Given the description of an element on the screen output the (x, y) to click on. 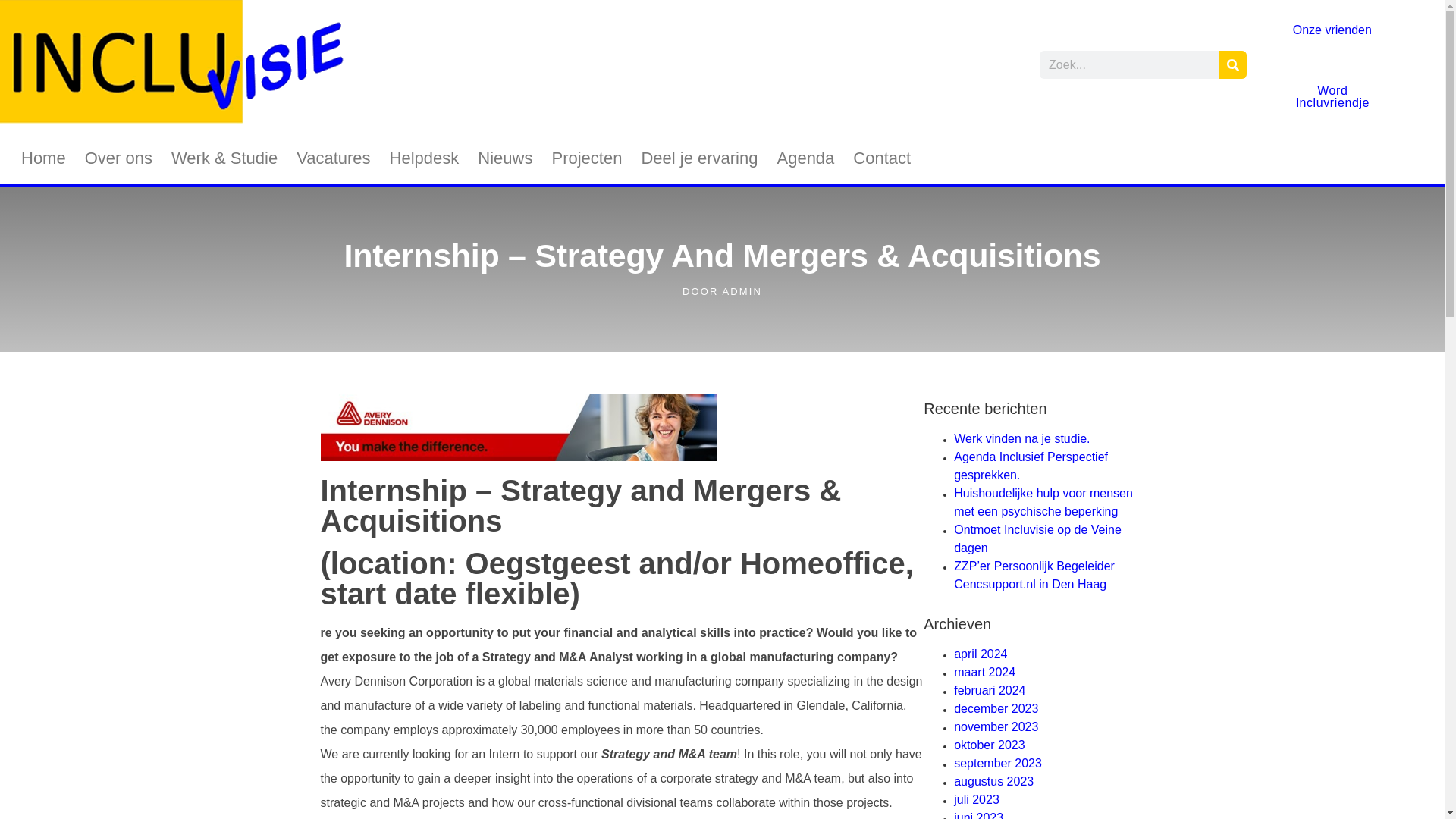
december 2023 (995, 707)
Werk vinden na je studie. (1021, 438)
maart 2024 (983, 671)
Nieuws (504, 158)
april 2024 (980, 653)
Helpdesk (424, 158)
Agenda (805, 158)
Huishoudelijke hulp voor mensen met een psychische beperking (1042, 501)
Home (43, 158)
Projecten (586, 158)
Agenda Inclusief Perspectief gesprekken. (1030, 465)
Vacatures (333, 158)
Onze vrienden (1332, 30)
Word Incluvriendje (1332, 96)
Ontmoet Incluvisie op de Veine dagen (1037, 538)
